Given the description of an element on the screen output the (x, y) to click on. 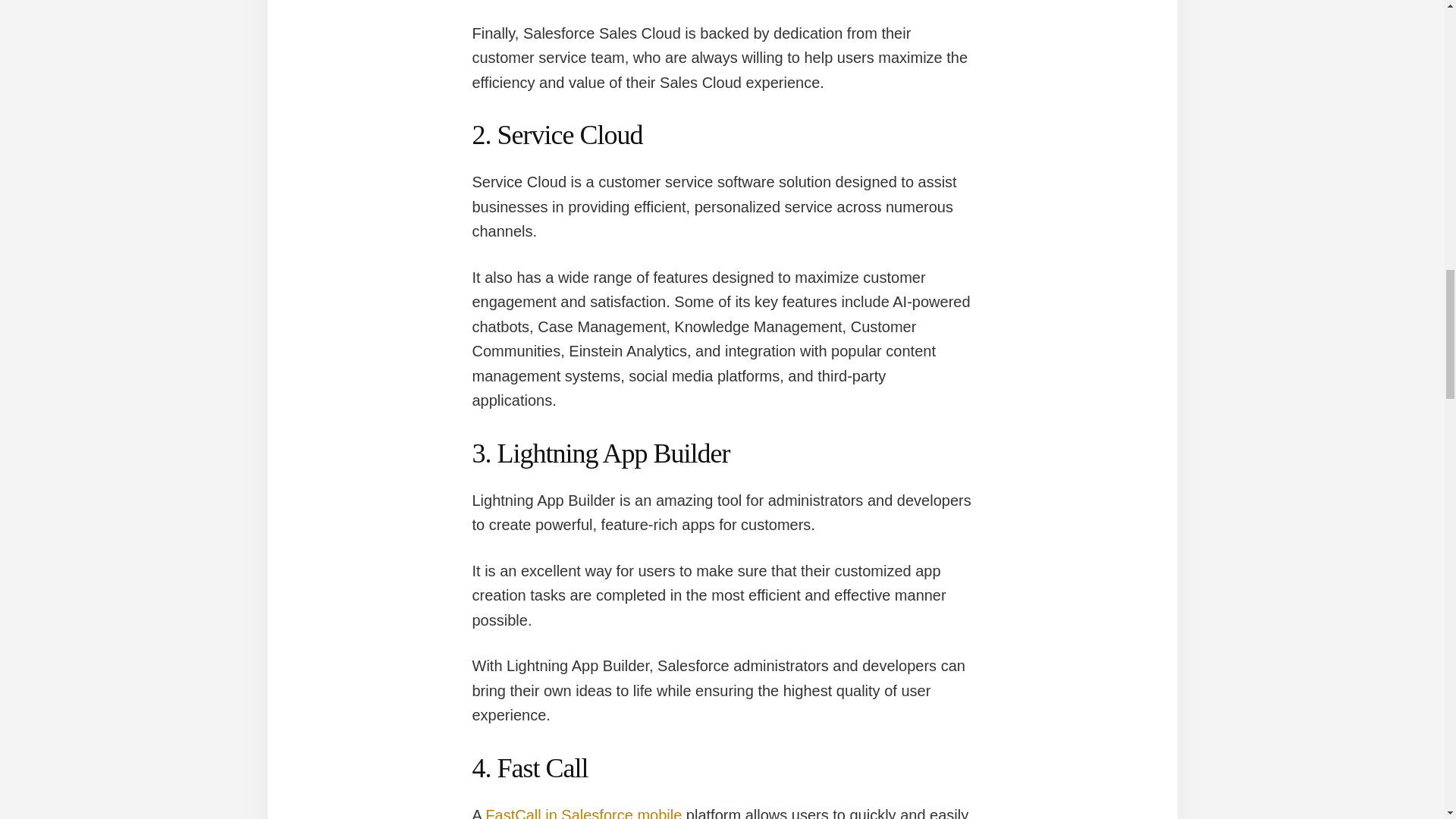
FastCall in Salesforce mobile (582, 812)
